Given the description of an element on the screen output the (x, y) to click on. 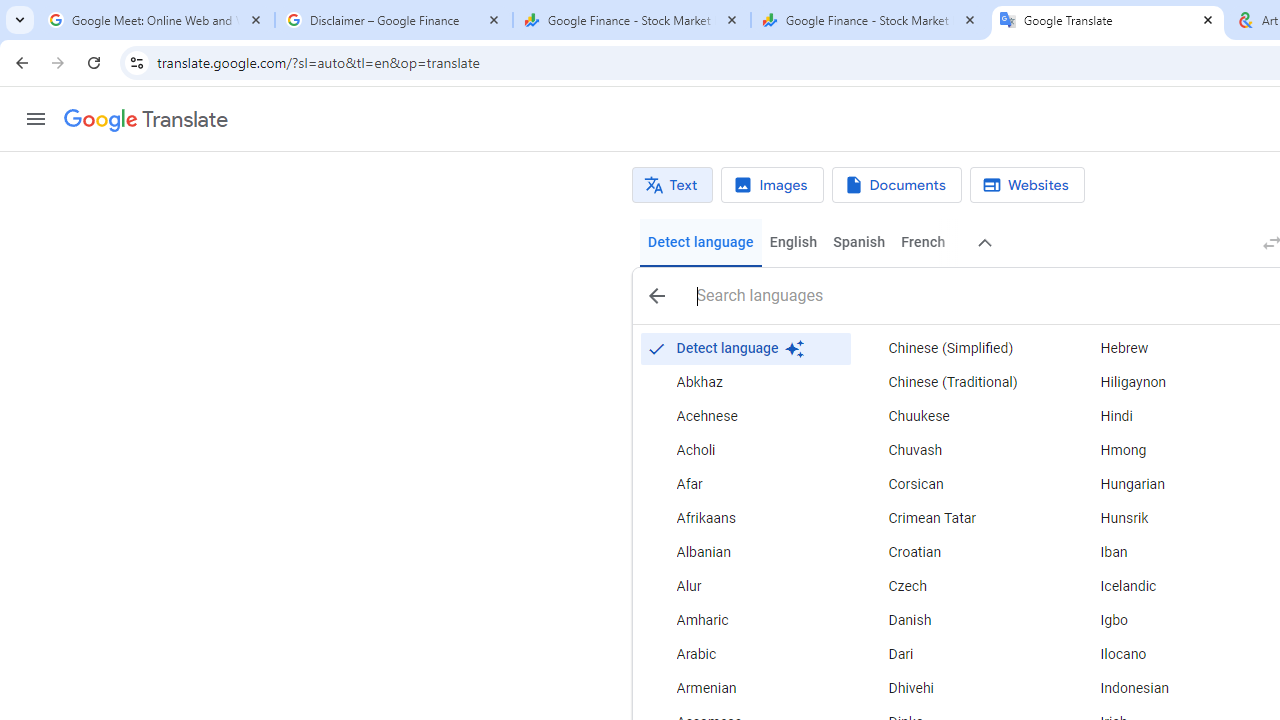
Spanish (858, 242)
Hunsrik (1168, 518)
Icelandic (1168, 586)
Hmong (1168, 450)
Igbo (1168, 620)
Text translation (672, 185)
Alur (745, 586)
Afrikaans (745, 518)
More source languages (985, 242)
French (922, 242)
Hebrew (1168, 348)
Chinese (Simplified) (957, 348)
